Given the description of an element on the screen output the (x, y) to click on. 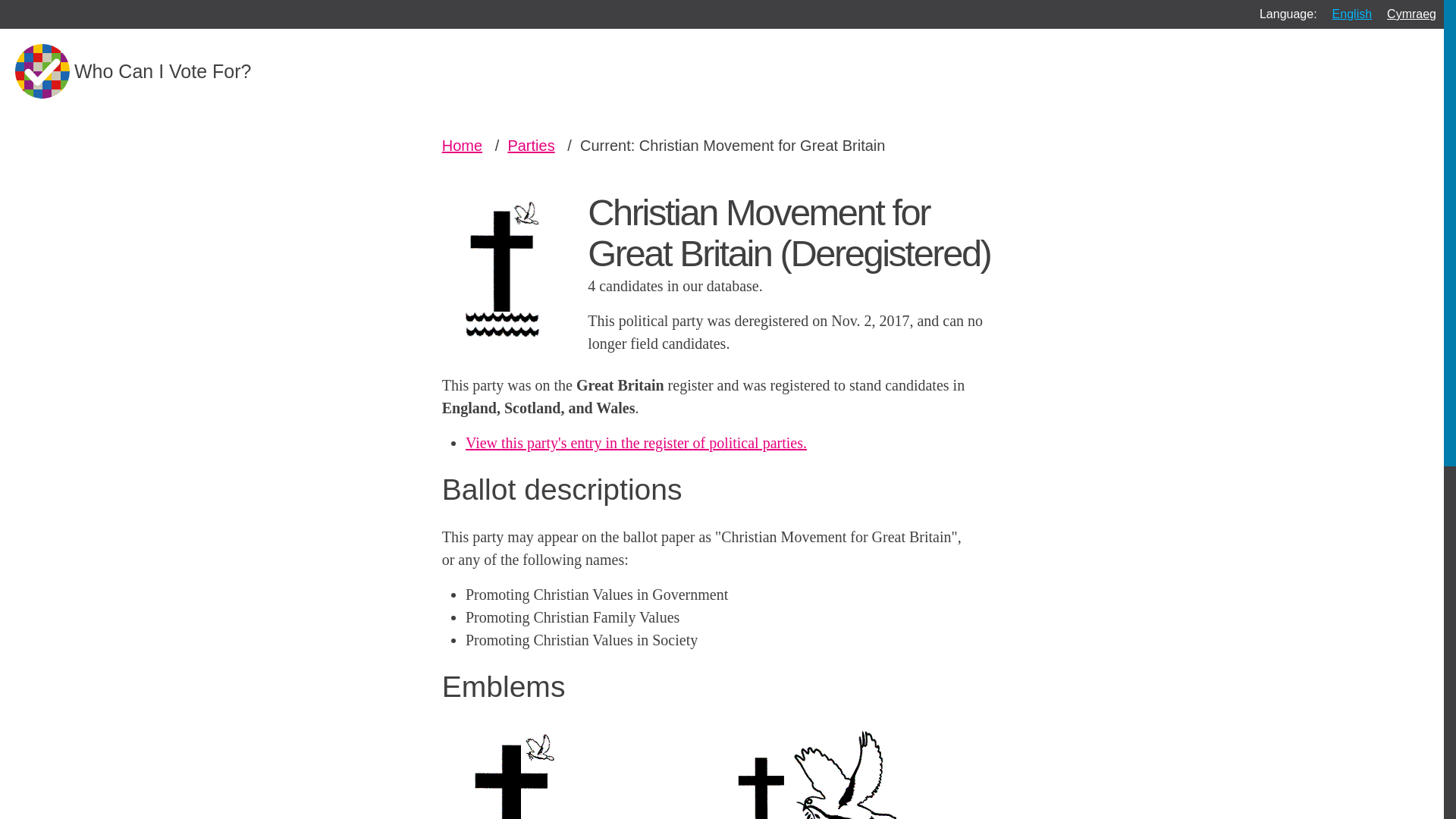
Parties (530, 145)
English (1351, 14)
Cymraeg (1411, 14)
Who Can I Vote For? (132, 71)
Home (461, 145)
